Given the description of an element on the screen output the (x, y) to click on. 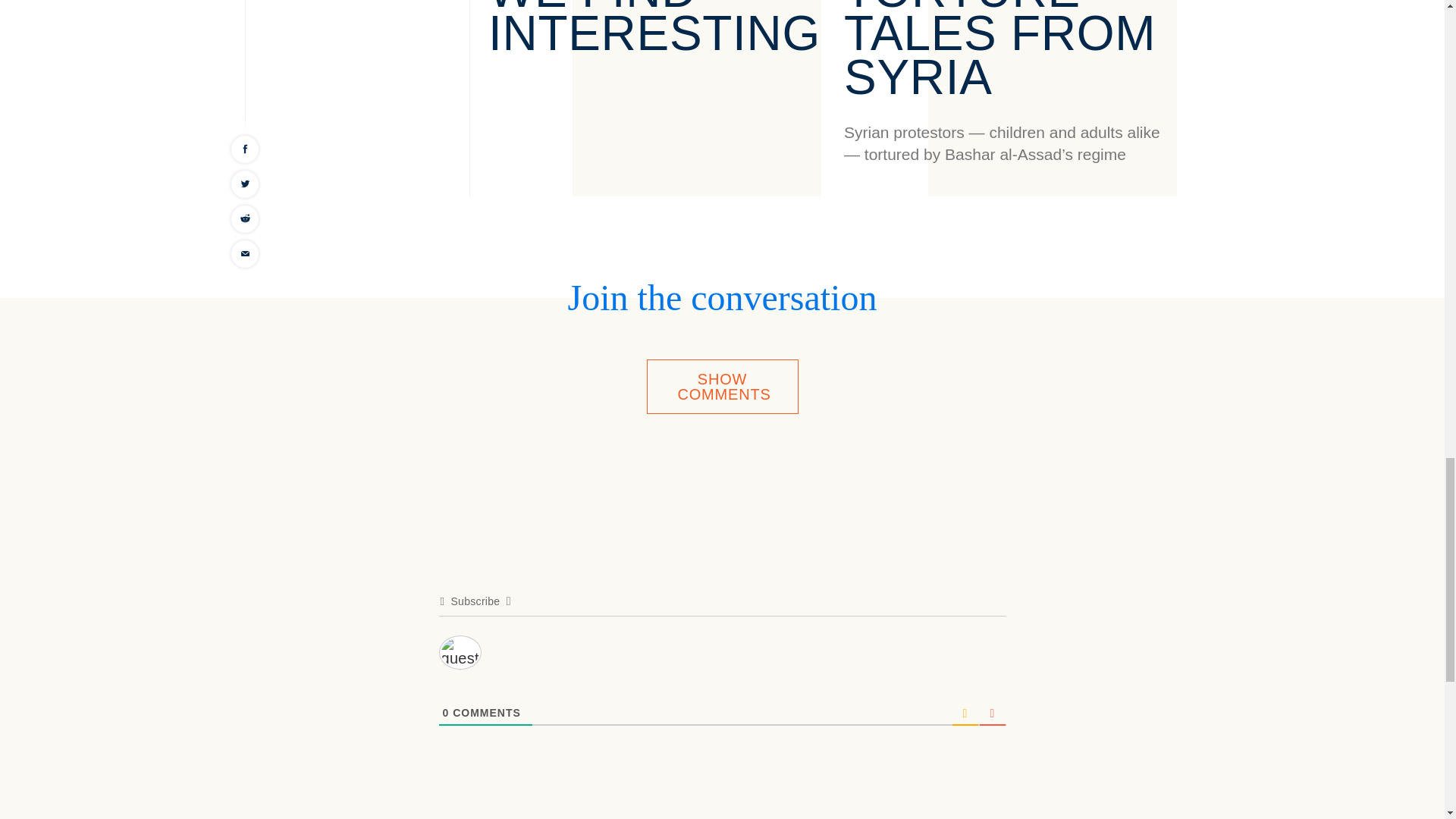
ARTICLES WE FIND INTERESTING (654, 30)
SHOW COMMENTS (721, 386)
GRIM TORTURE TALES FROM SYRIA (1000, 52)
